Given the description of an element on the screen output the (x, y) to click on. 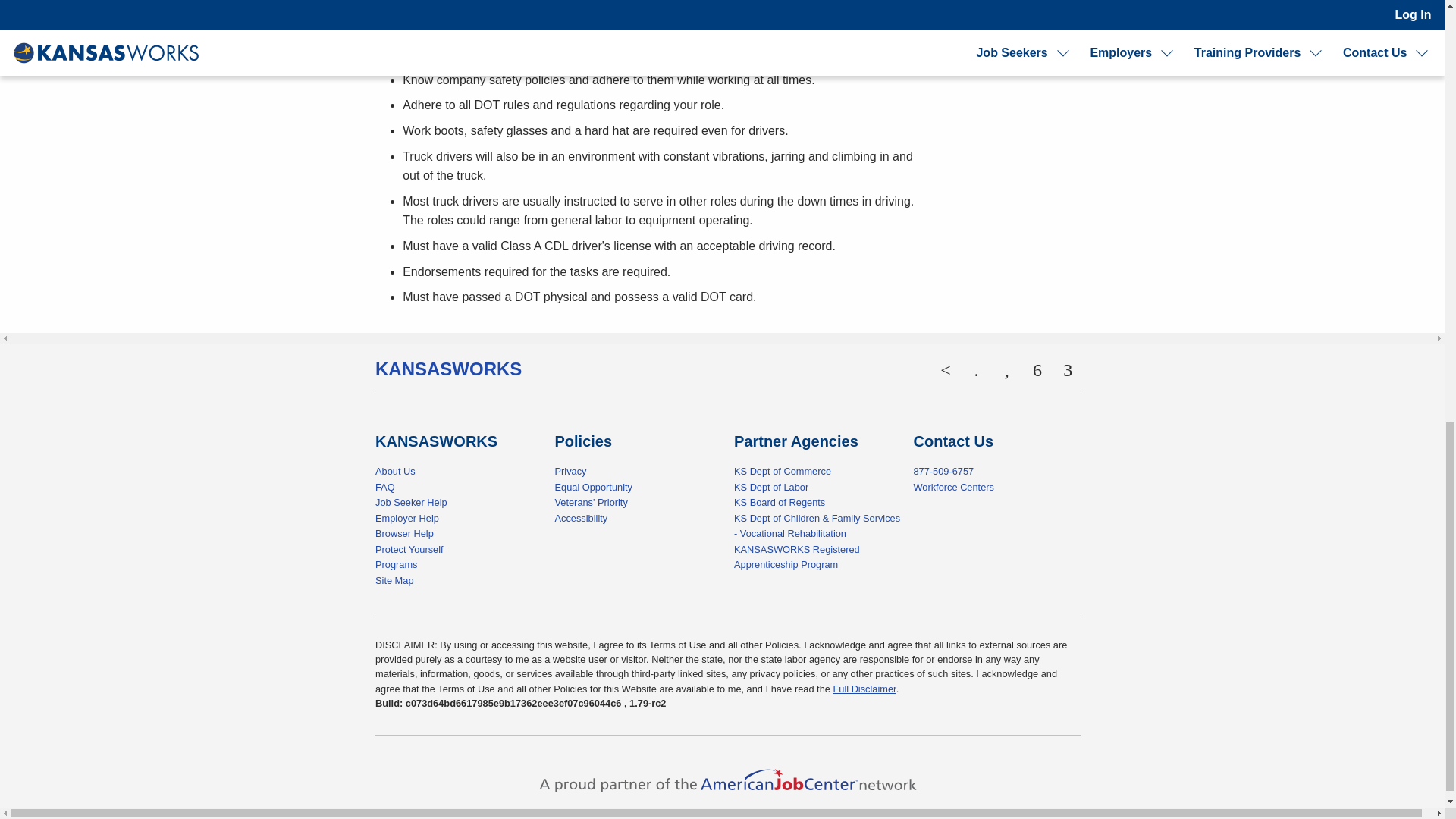
Browser Help (404, 532)
About Us (394, 471)
Employer Help (407, 518)
Protect Yourself (409, 549)
KANSASWORKS (448, 369)
Job Seeker Help (410, 501)
FAQ (384, 487)
